Given the description of an element on the screen output the (x, y) to click on. 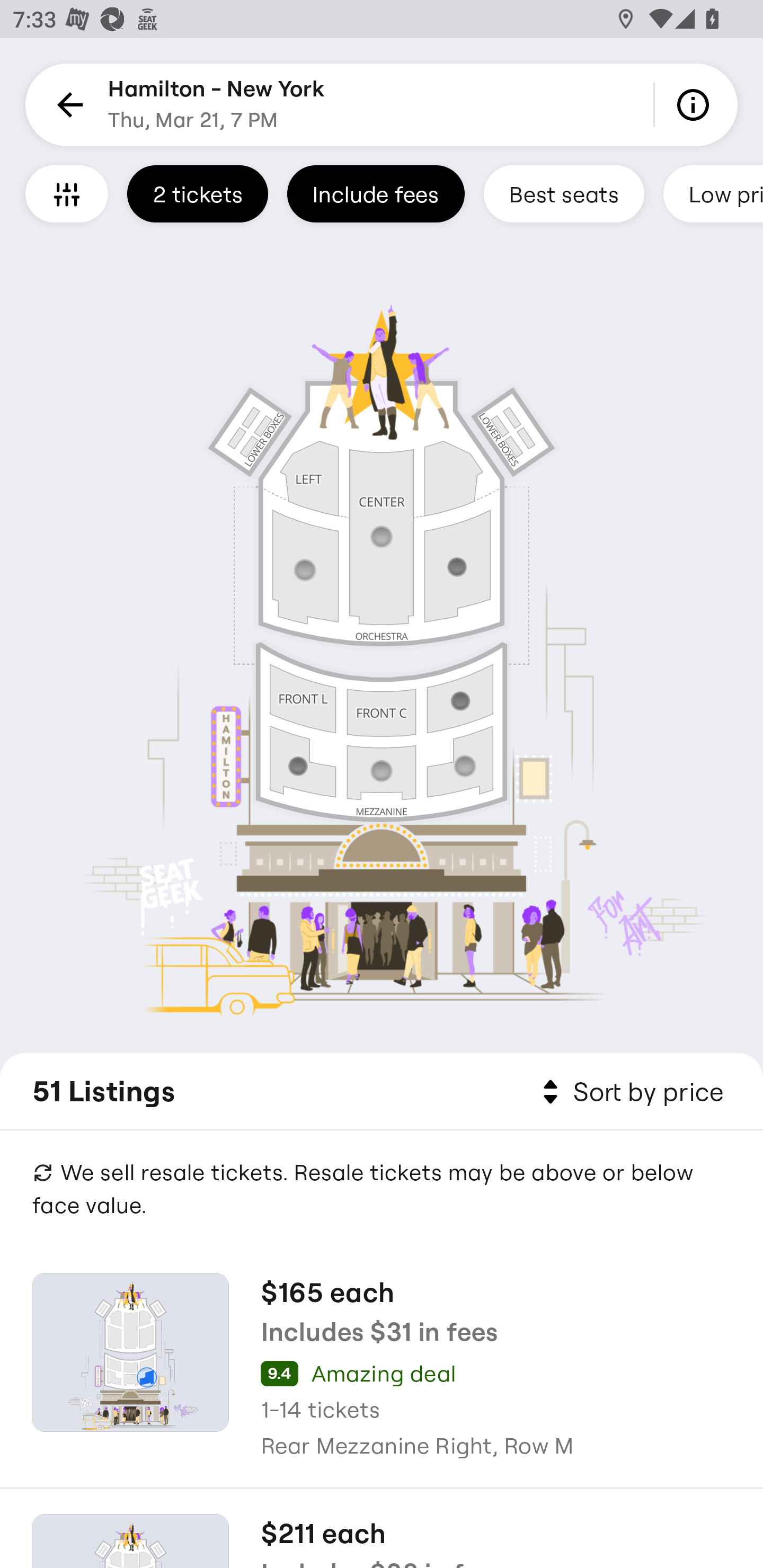
Back (66, 104)
Hamilton - New York Thu, Mar 21, 7 PM (216, 104)
Info (695, 104)
Filters and Accessible Seating (66, 193)
2 tickets (197, 193)
Include fees (375, 193)
Best seats (563, 193)
Low prices (713, 193)
Sort by price (629, 1091)
